Given the description of an element on the screen output the (x, y) to click on. 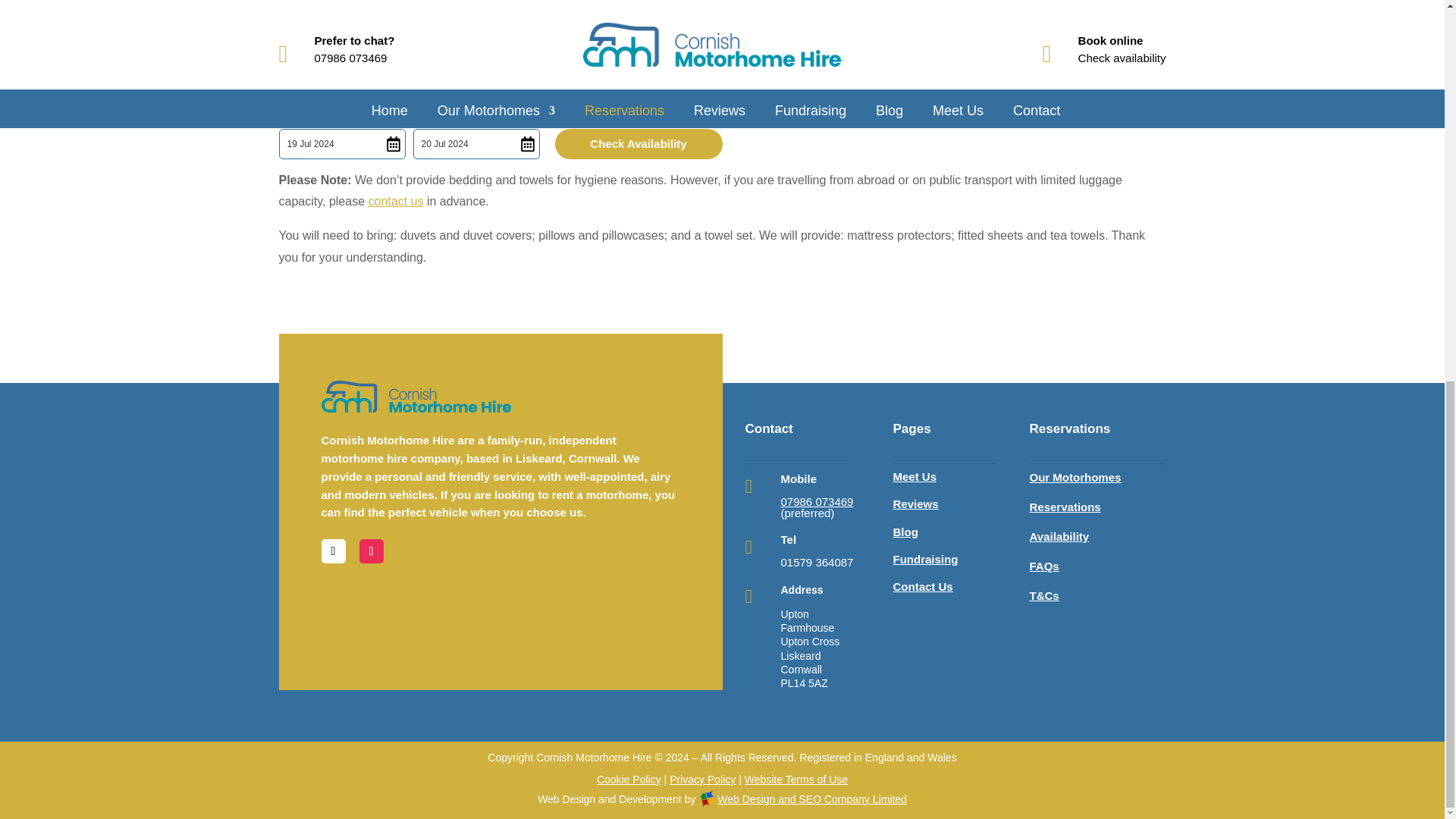
20 Jul 2024 (475, 143)
Follow on Facebook (333, 550)
19 Jul 2024 (342, 143)
Follow on Instagram (371, 550)
